Given the description of an element on the screen output the (x, y) to click on. 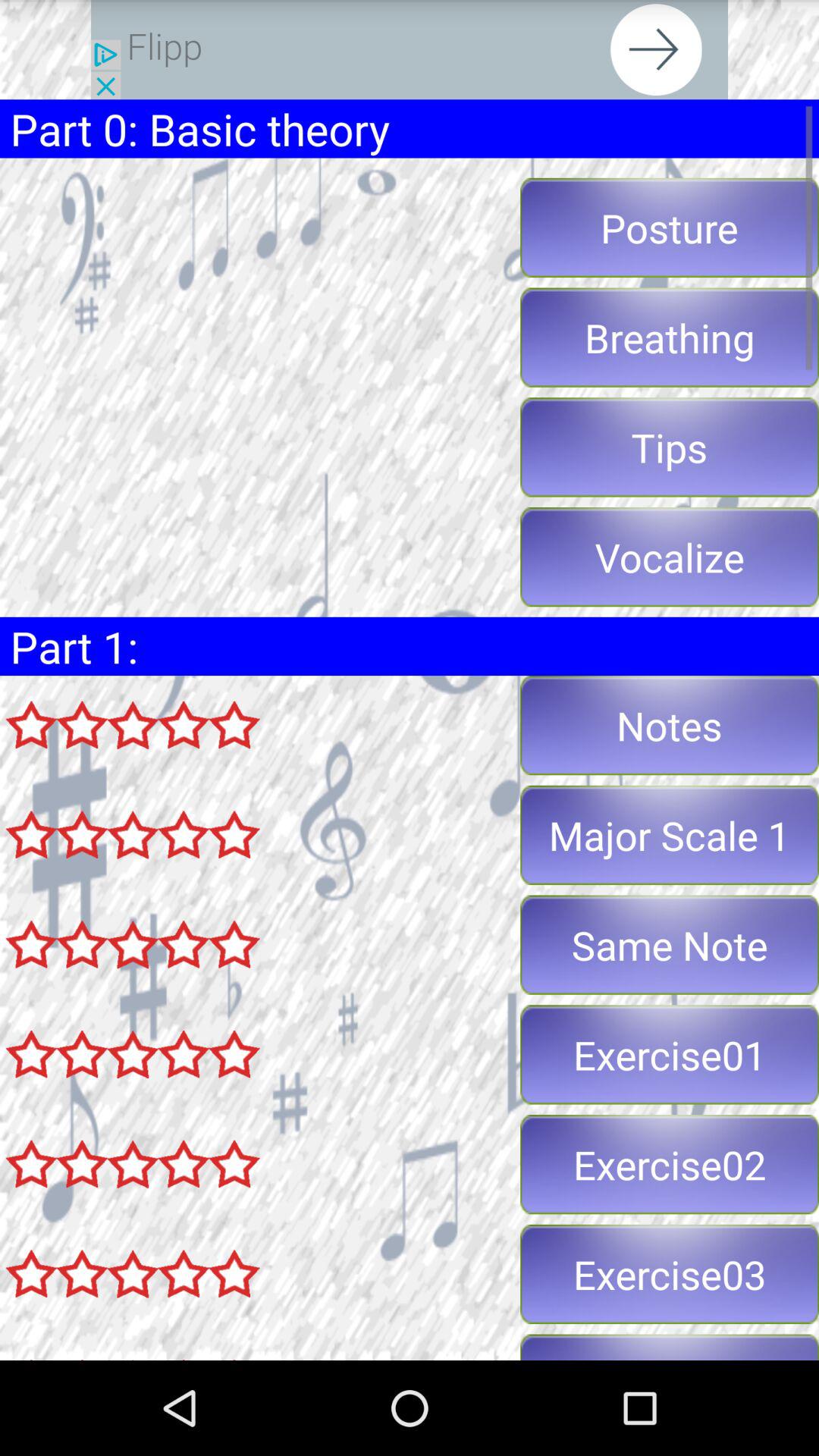
click advertisement (409, 49)
